Given the description of an element on the screen output the (x, y) to click on. 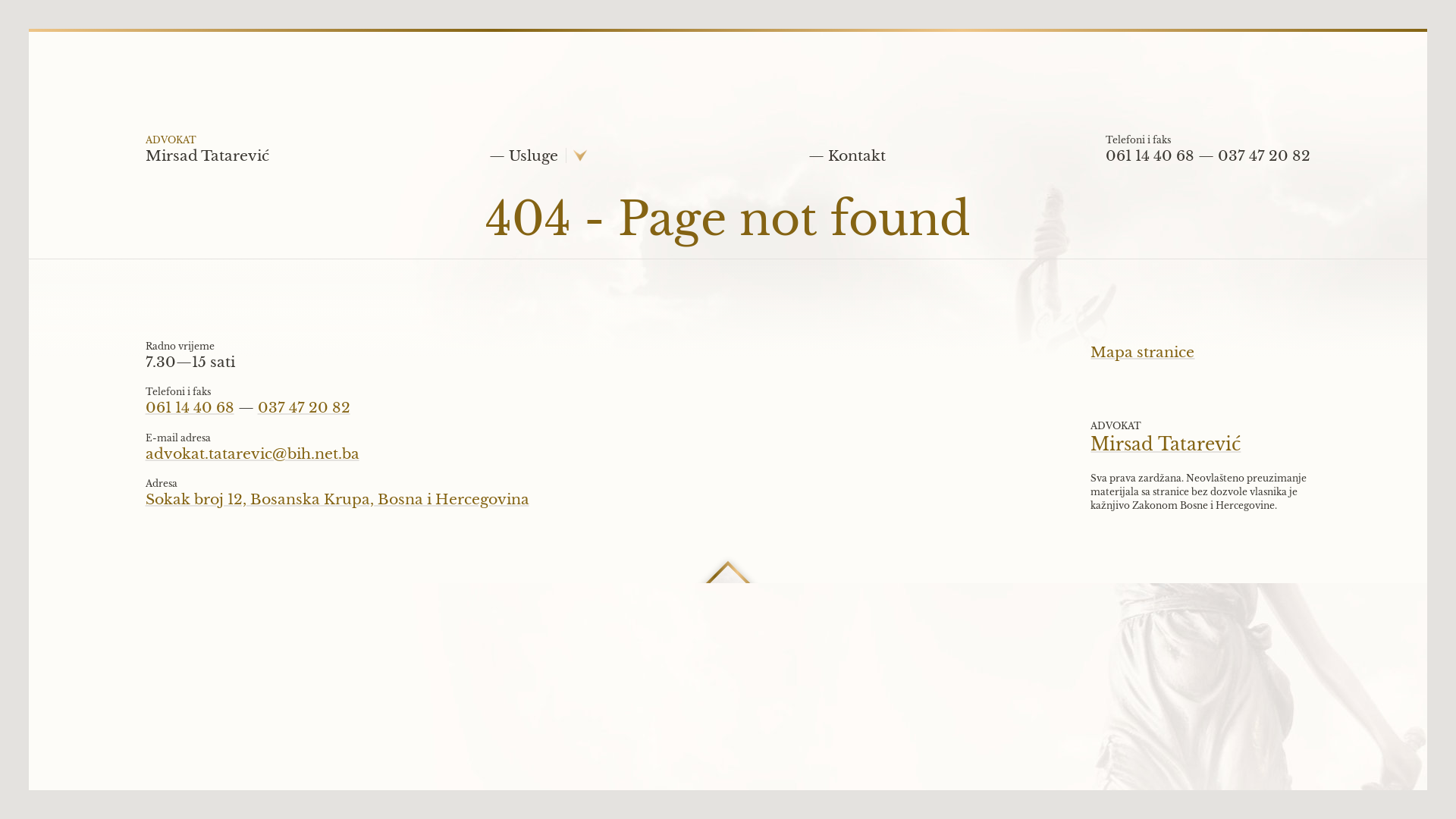
061 14 40 68 Element type: text (1149, 161)
037 47 20 82 Element type: text (303, 407)
Sokak broj 12, Bosanska Krupa, Bosna i Hercegovina Element type: text (337, 499)
061 14 40 68 Element type: text (189, 407)
... Element type: text (717, 584)
Kontakt Element type: text (846, 161)
advokat.tatarevic@bih.net.ba Element type: text (252, 452)
037 47 20 82 Element type: text (1263, 161)
Usluge Element type: text (523, 161)
Mapa stranice Element type: text (1142, 351)
